Given the description of an element on the screen output the (x, y) to click on. 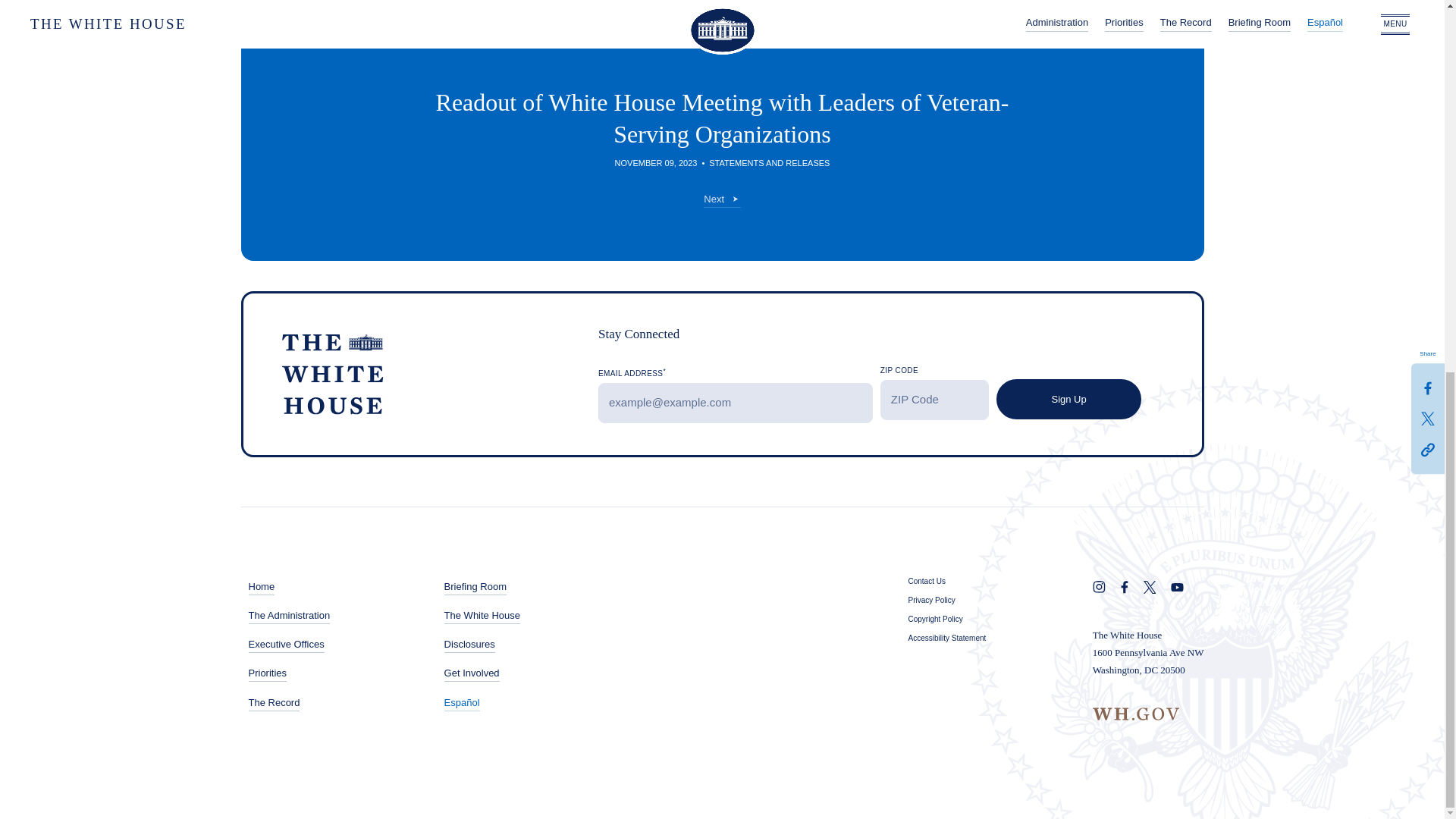
Sign Up (1068, 399)
